Given the description of an element on the screen output the (x, y) to click on. 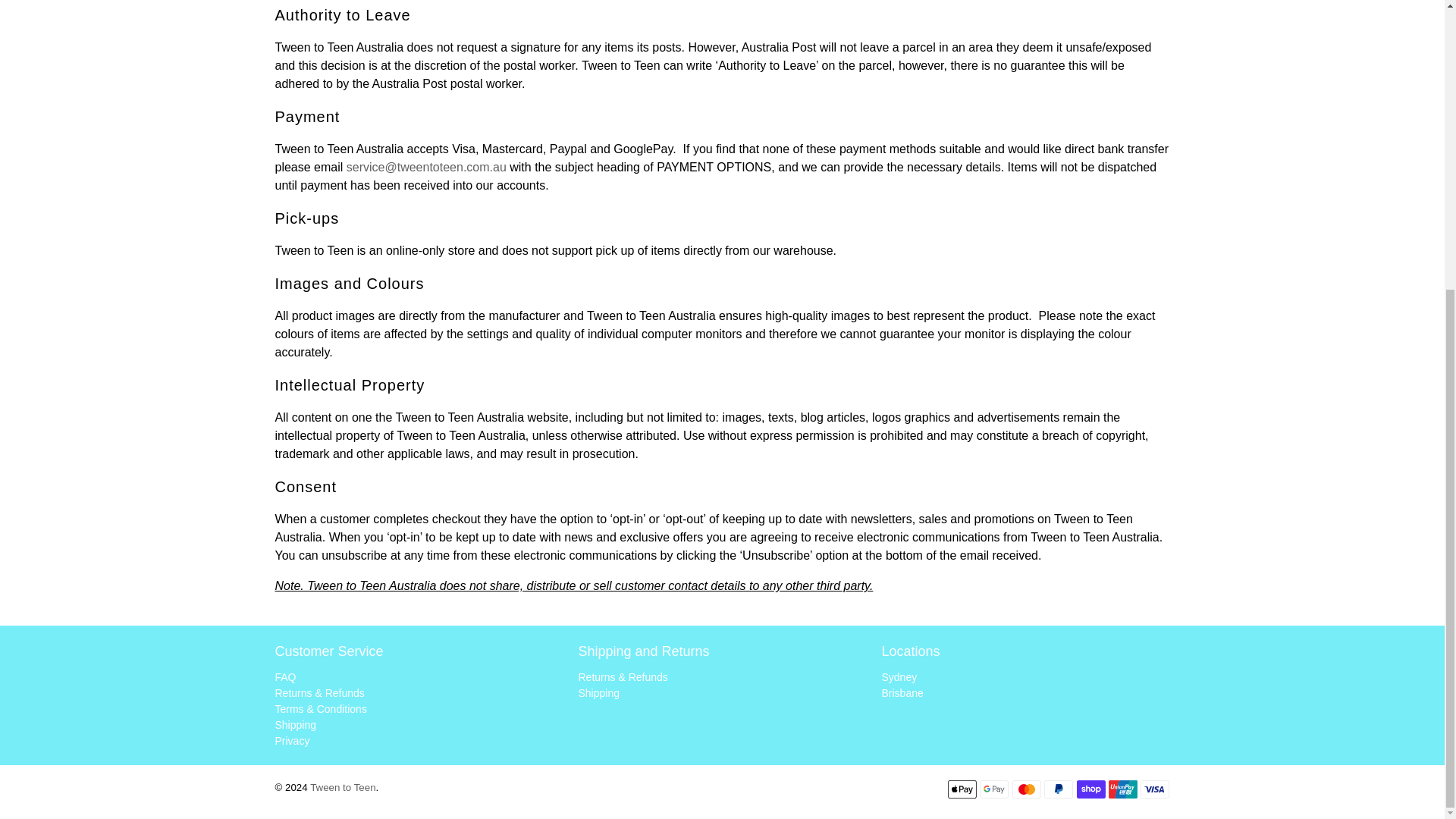
Apple Pay (961, 789)
Union Pay (1122, 789)
Shop Pay (1091, 789)
Mastercard (1026, 789)
Visa (1154, 789)
Google Pay (994, 789)
PayPal (1058, 789)
